Given the description of an element on the screen output the (x, y) to click on. 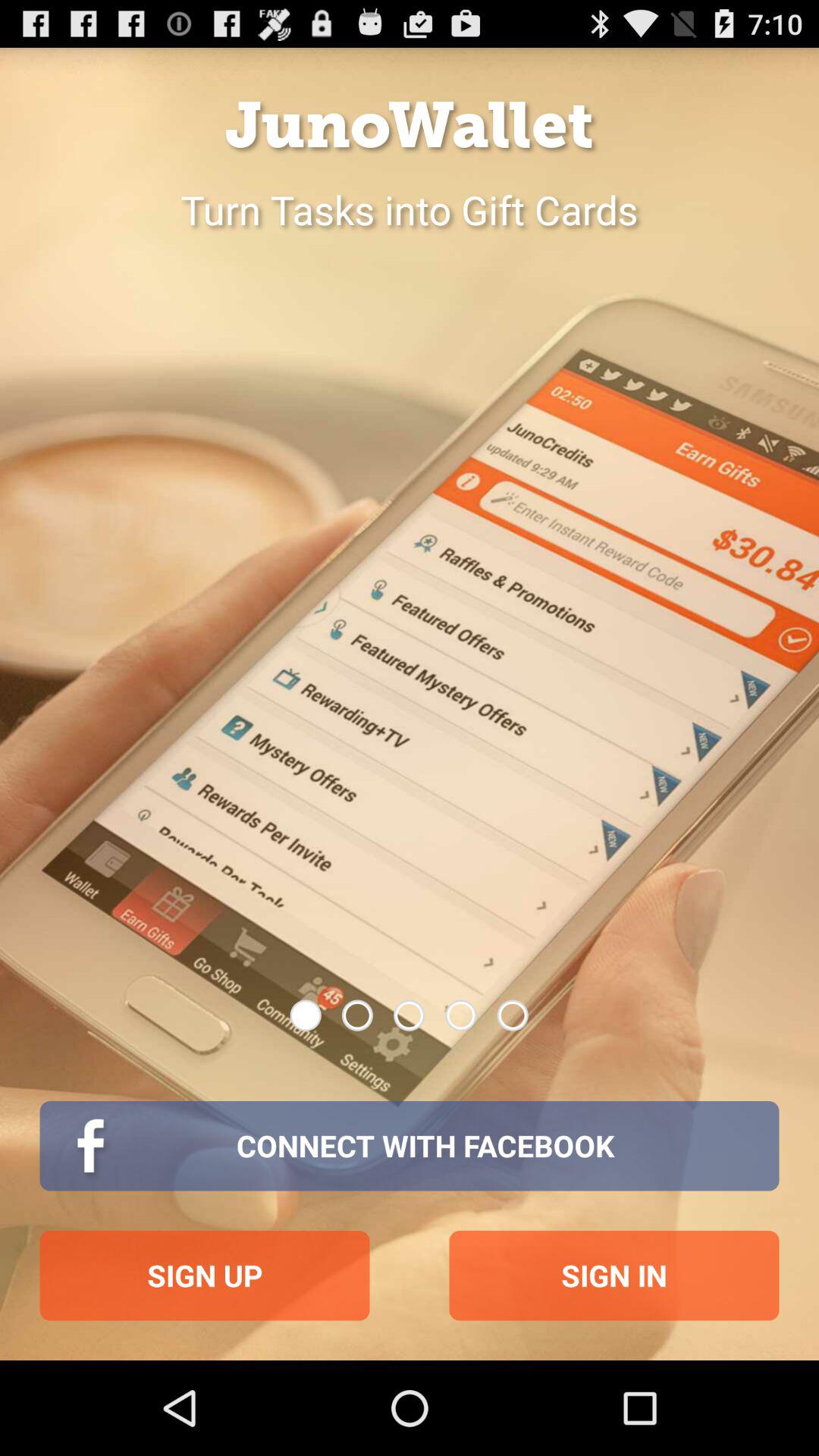
turn on the button to the left of sign in (204, 1275)
